Given the description of an element on the screen output the (x, y) to click on. 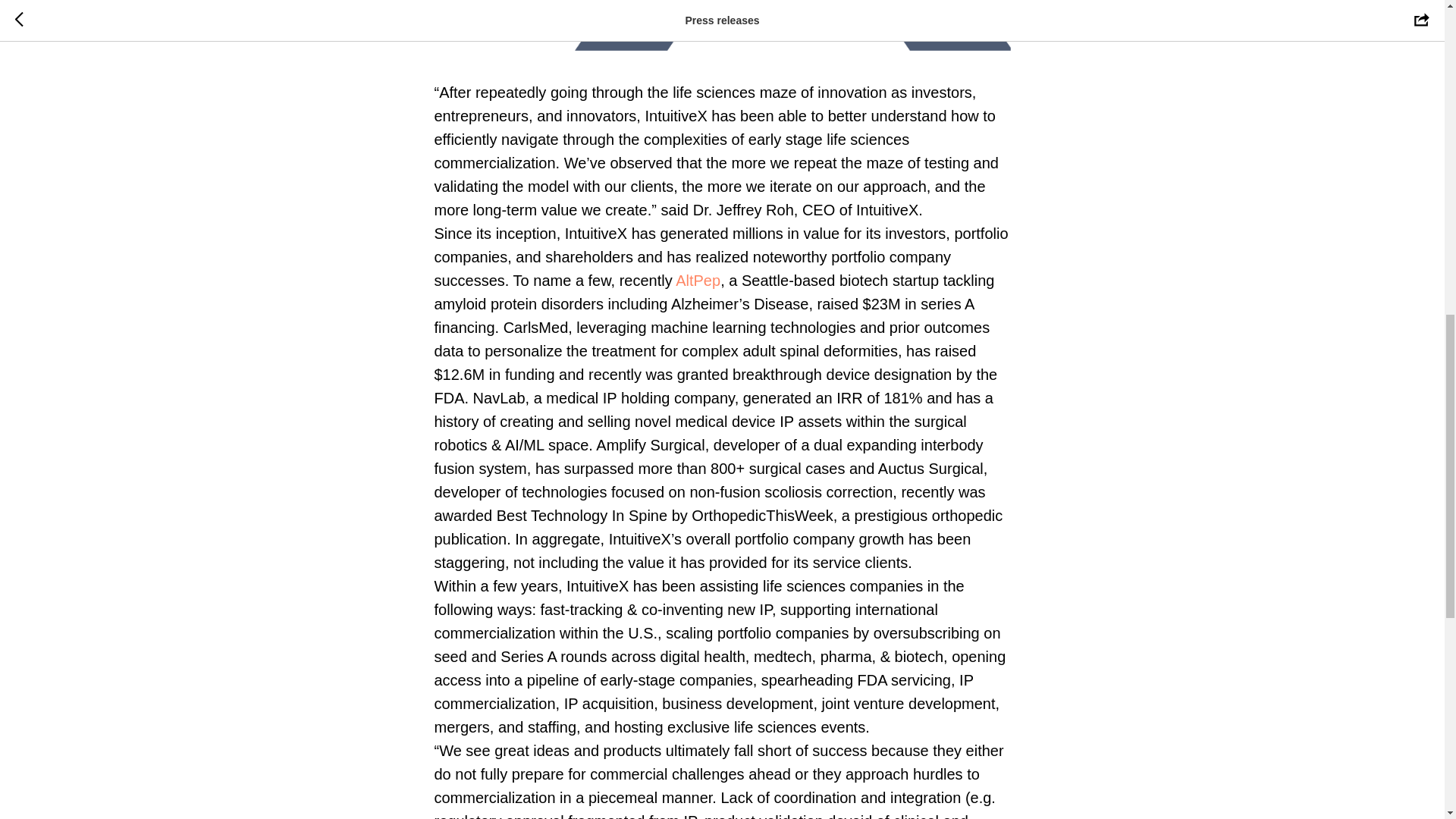
AltPep (697, 280)
